Given the description of an element on the screen output the (x, y) to click on. 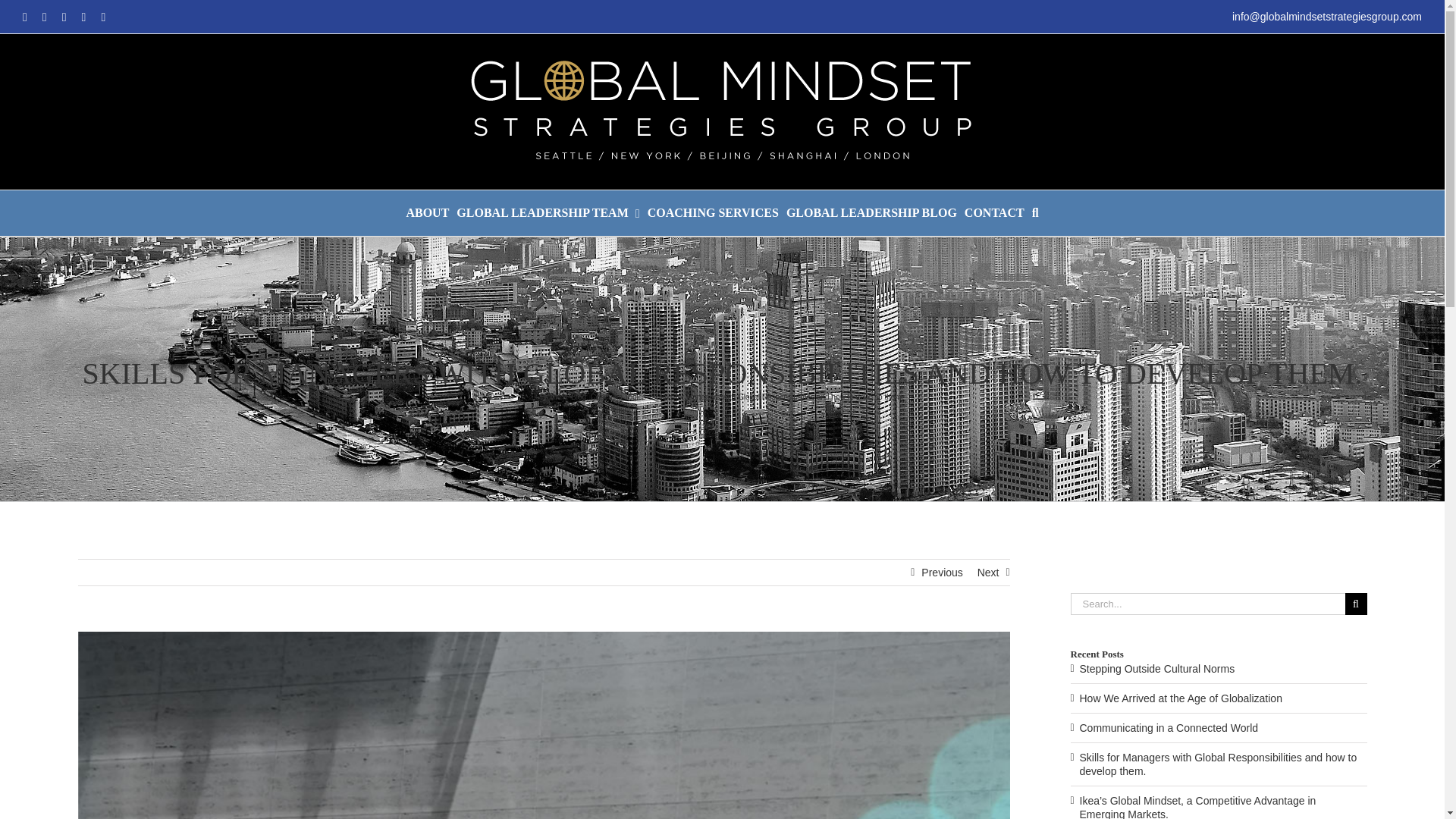
GLOBAL LEADERSHIP BLOG (871, 212)
CONTACT (994, 212)
GLOBAL LEADERSHIP TEAM (548, 212)
COACHING SERVICES (712, 212)
ABOUT (427, 212)
